Given the description of an element on the screen output the (x, y) to click on. 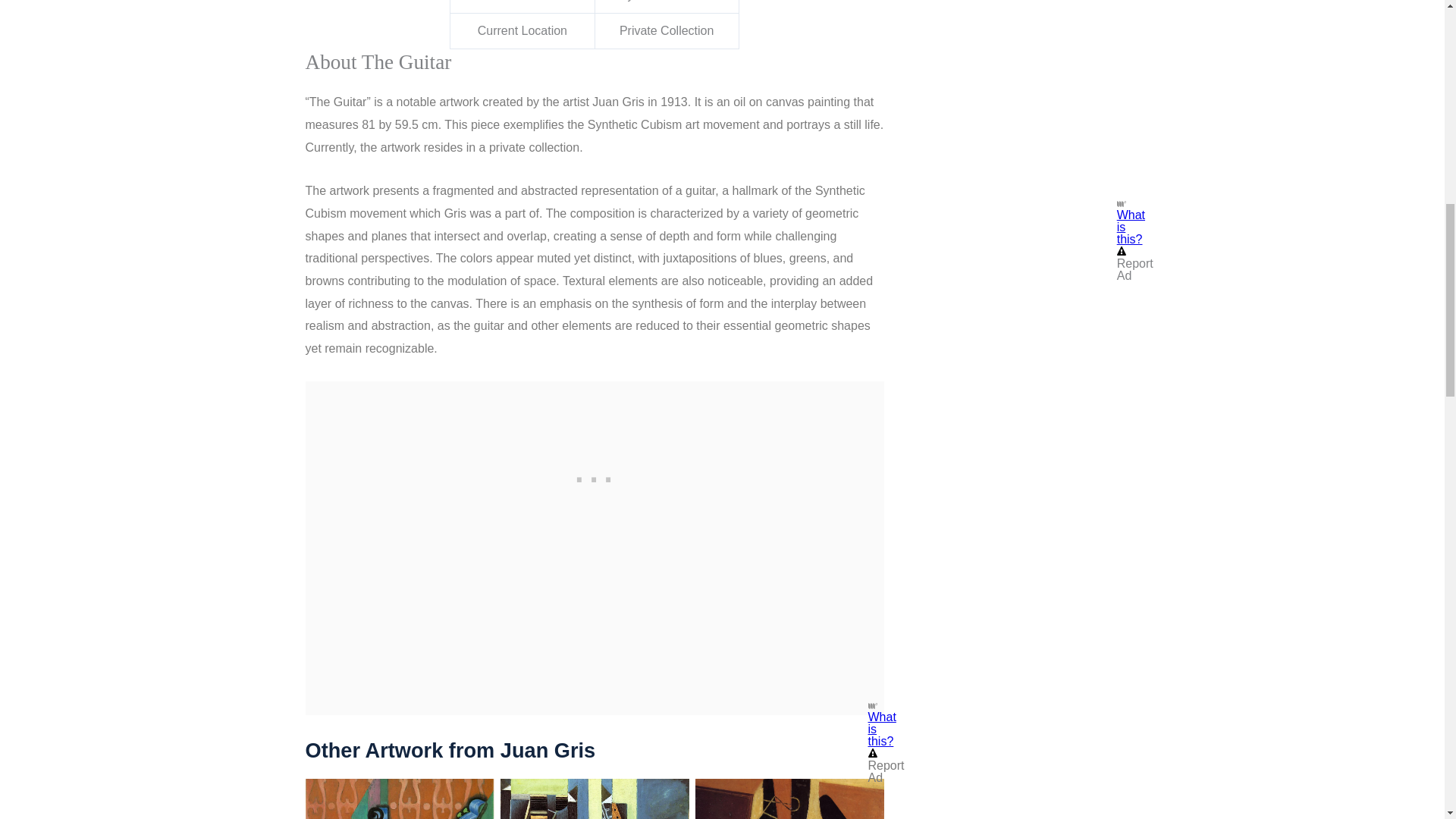
3rd party ad content (1018, 32)
3rd party ad content (593, 475)
